Given the description of an element on the screen output the (x, y) to click on. 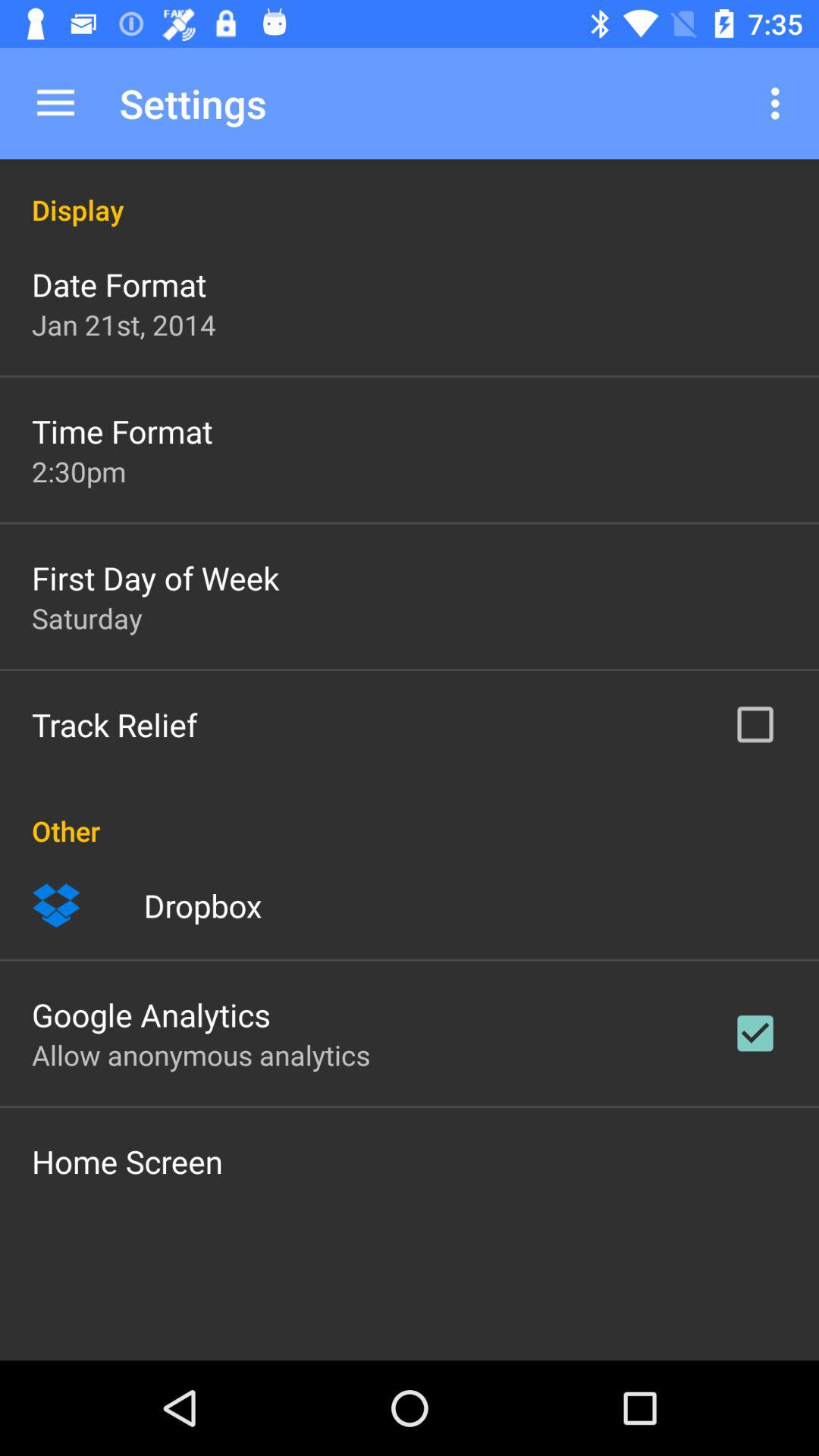
tap the time format item (121, 430)
